Given the description of an element on the screen output the (x, y) to click on. 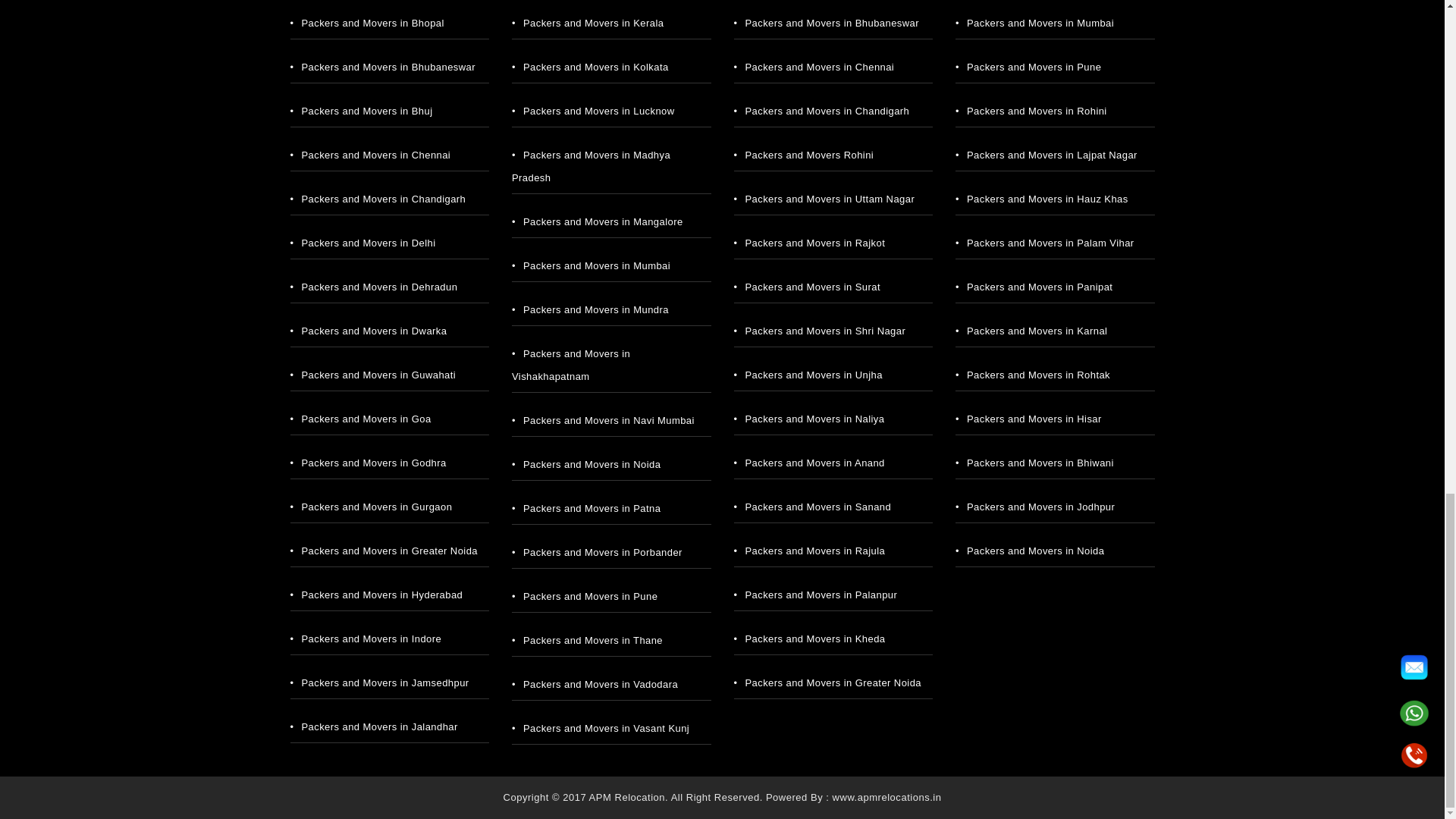
Packers and Movers in Goa (365, 419)
Packers and Movers in Delhi (368, 242)
Packers and Movers in Chandigarh (383, 198)
Packers and Movers in Indore (371, 638)
Packers and Movers in Chandigarh (383, 198)
Packers and Movers in Bhopal (372, 22)
Packers and Movers in Bhopal (372, 22)
Packers and Movers in Gurgaon (376, 506)
Packers and Movers in Greater Noida (389, 550)
Packers and Movers in Hyderabad (382, 594)
